Given the description of an element on the screen output the (x, y) to click on. 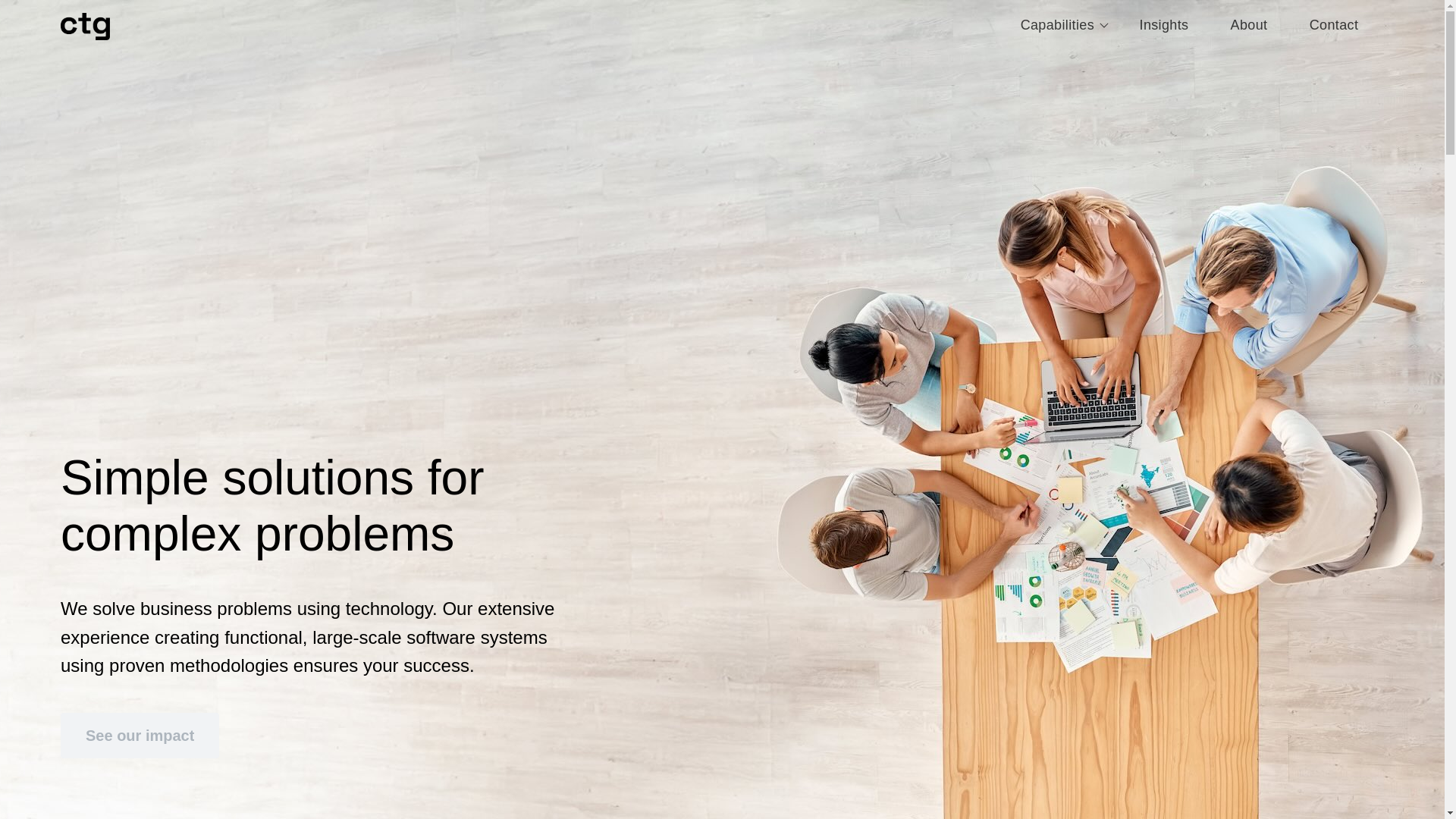
Capabilities (1065, 27)
See our impact (140, 726)
Insights (1163, 27)
About (1249, 27)
See our impact (140, 735)
Contact (1333, 27)
